Given the description of an element on the screen output the (x, y) to click on. 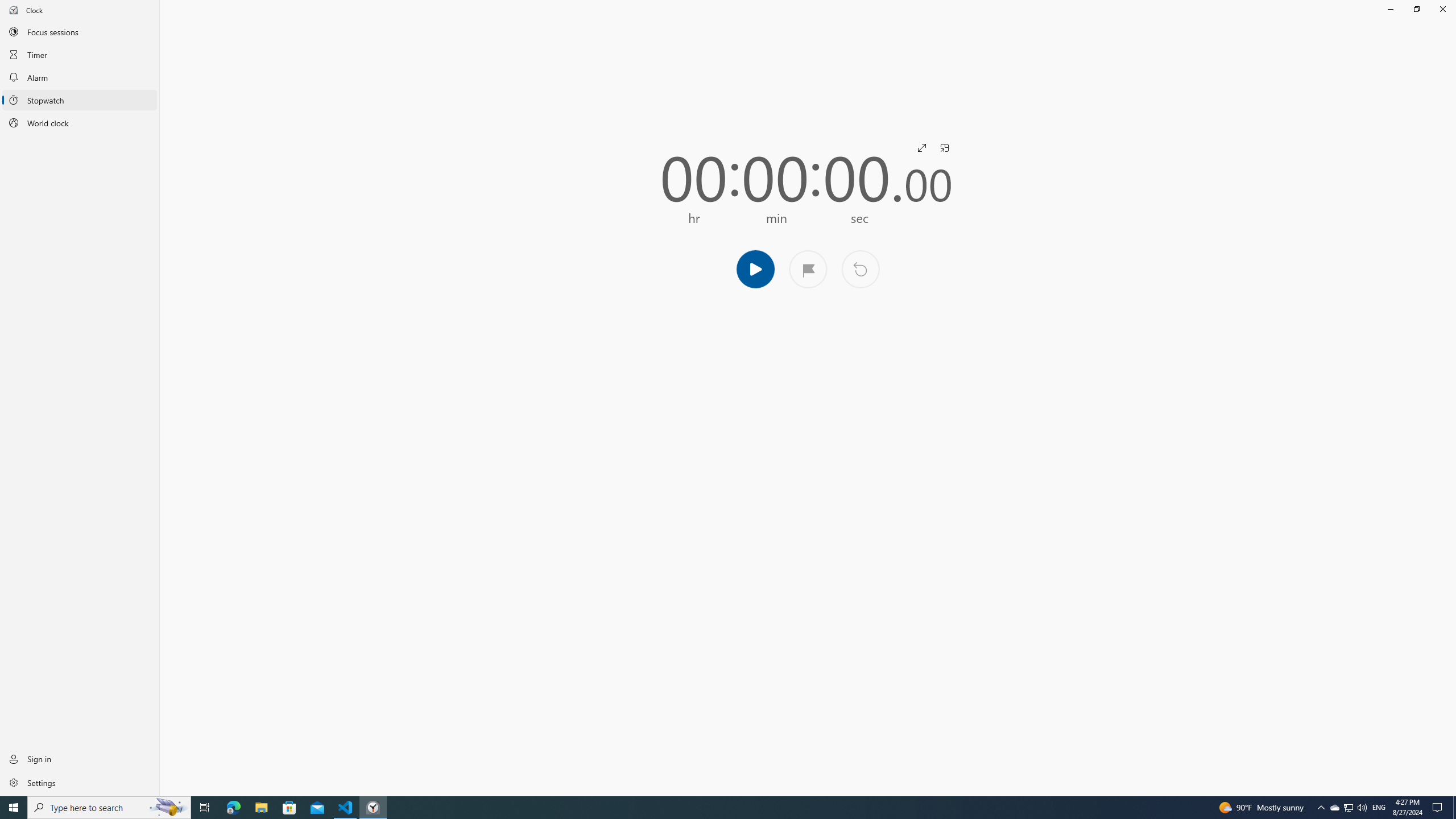
Expand (921, 147)
Laps and Splits (808, 268)
Microsoft Store (289, 807)
World clock (79, 122)
Microsoft Edge (233, 807)
Stopwatch (79, 100)
Visual Studio Code - 1 running window (1333, 807)
Close Clock (345, 807)
Task View (1442, 9)
Reset (204, 807)
Type here to search (860, 268)
Notification Chevron (108, 807)
